Given the description of an element on the screen output the (x, y) to click on. 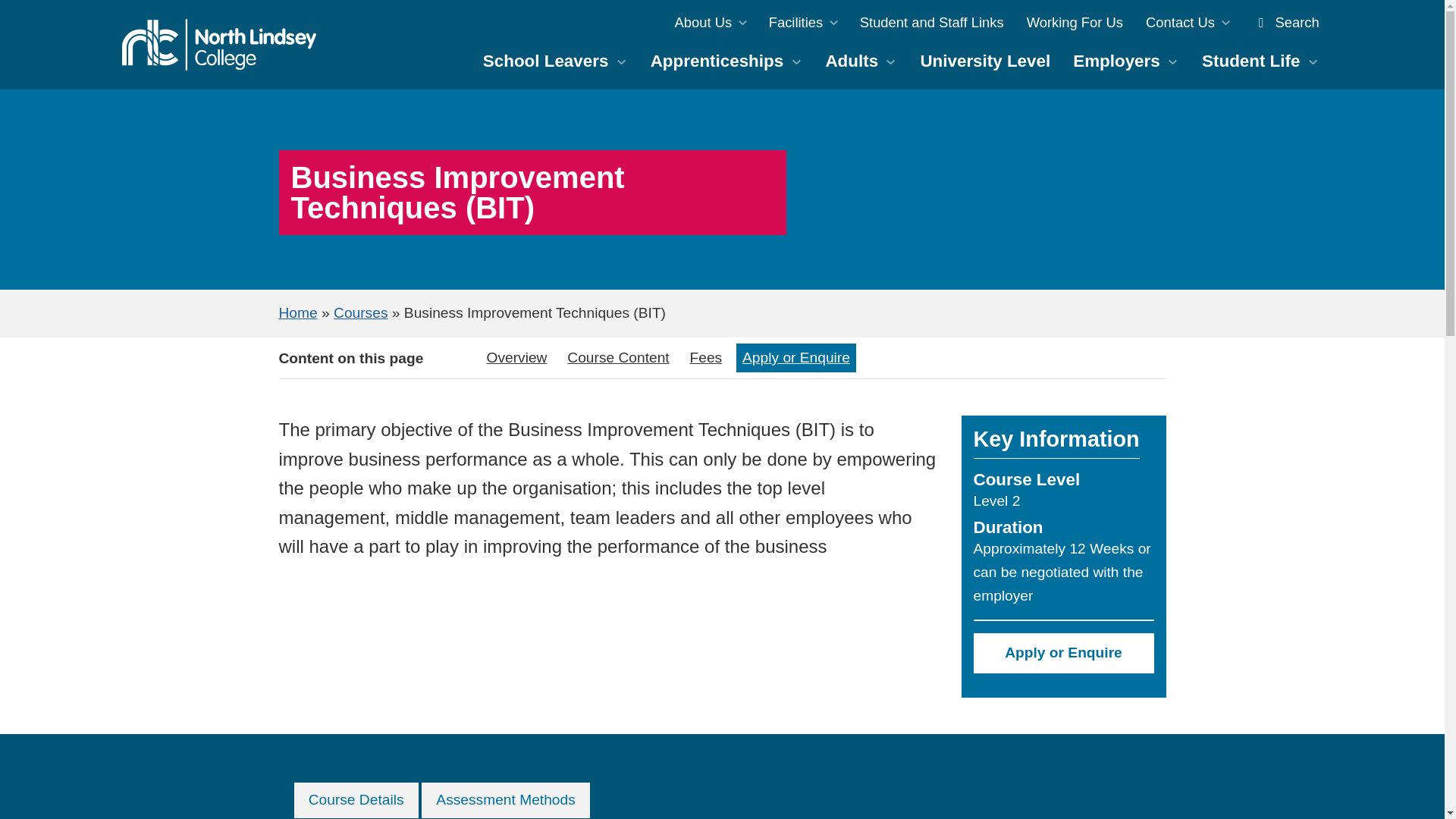
Search (1285, 22)
Working For Us (1074, 22)
School Leavers (555, 61)
Contact Us (1187, 22)
Student and Staff Links (931, 22)
About Us (710, 22)
Facilities (802, 22)
